Given the description of an element on the screen output the (x, y) to click on. 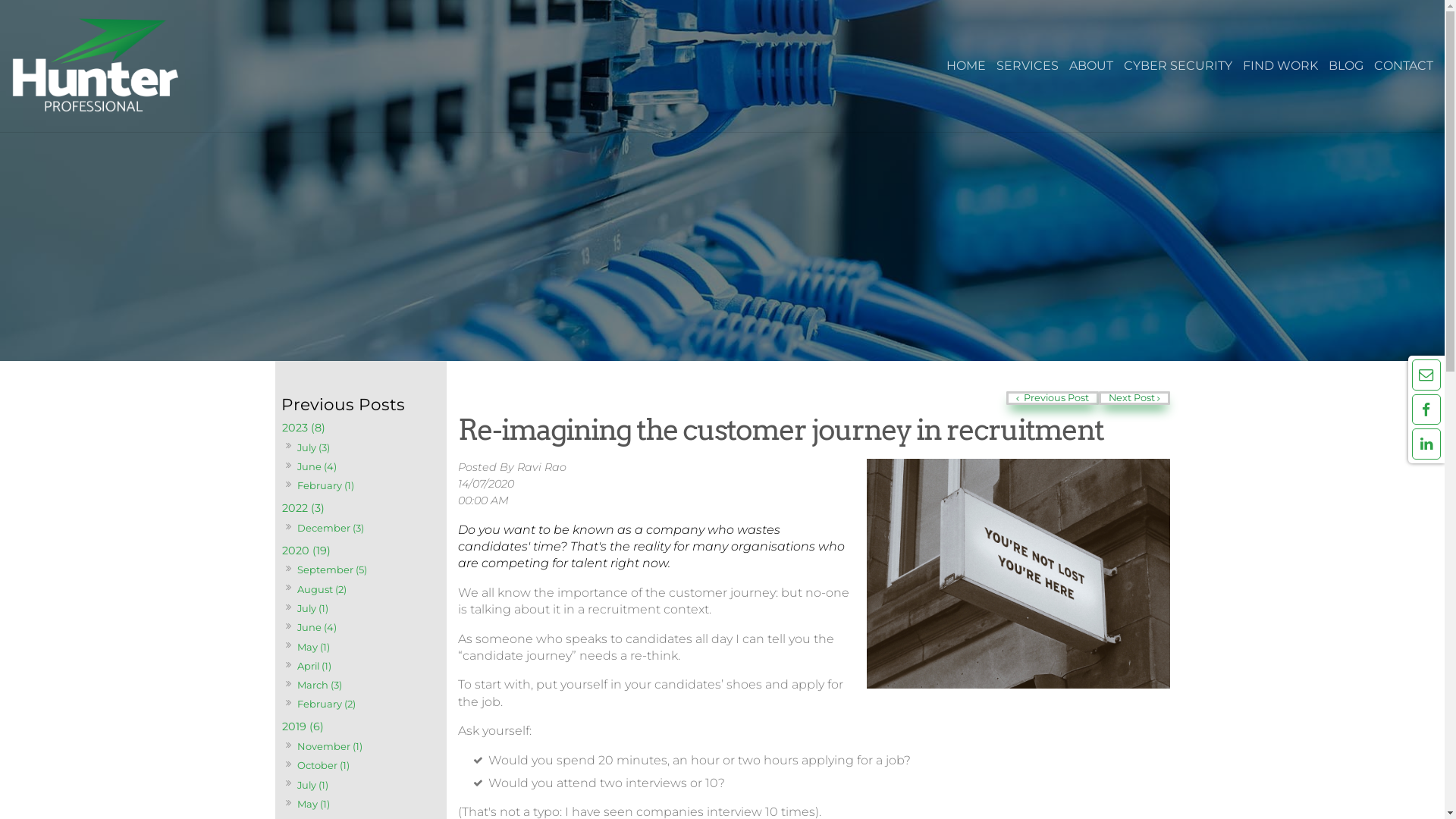
August (2) Element type: text (321, 588)
July (1) Element type: text (312, 784)
ABOUT Element type: text (1091, 65)
May (1) Element type: text (312, 646)
Next Post Element type: text (1134, 397)
October (1) Element type: text (322, 765)
April (1) Element type: text (313, 665)
March (3) Element type: text (318, 684)
July (3) Element type: text (312, 446)
June (4) Element type: text (316, 627)
FIND WORK Element type: text (1280, 65)
May (1) Element type: text (312, 803)
2023 (8) Element type: text (359, 427)
SERVICES Element type: text (1027, 65)
September (5) Element type: text (331, 569)
2022 (3) Element type: text (359, 508)
CYBER SECURITY Element type: text (1178, 65)
February (1) Element type: text (324, 485)
Previous Post Element type: text (1052, 397)
December (3) Element type: text (329, 527)
February (2) Element type: text (325, 703)
June (4) Element type: text (316, 466)
HOME Element type: text (965, 65)
2019 (6) Element type: text (359, 726)
2020 (19) Element type: text (359, 549)
CONTACT Element type: text (1403, 65)
July (1) Element type: text (312, 608)
BLOG Element type: text (1345, 65)
November (1) Element type: text (329, 746)
